Given the description of an element on the screen output the (x, y) to click on. 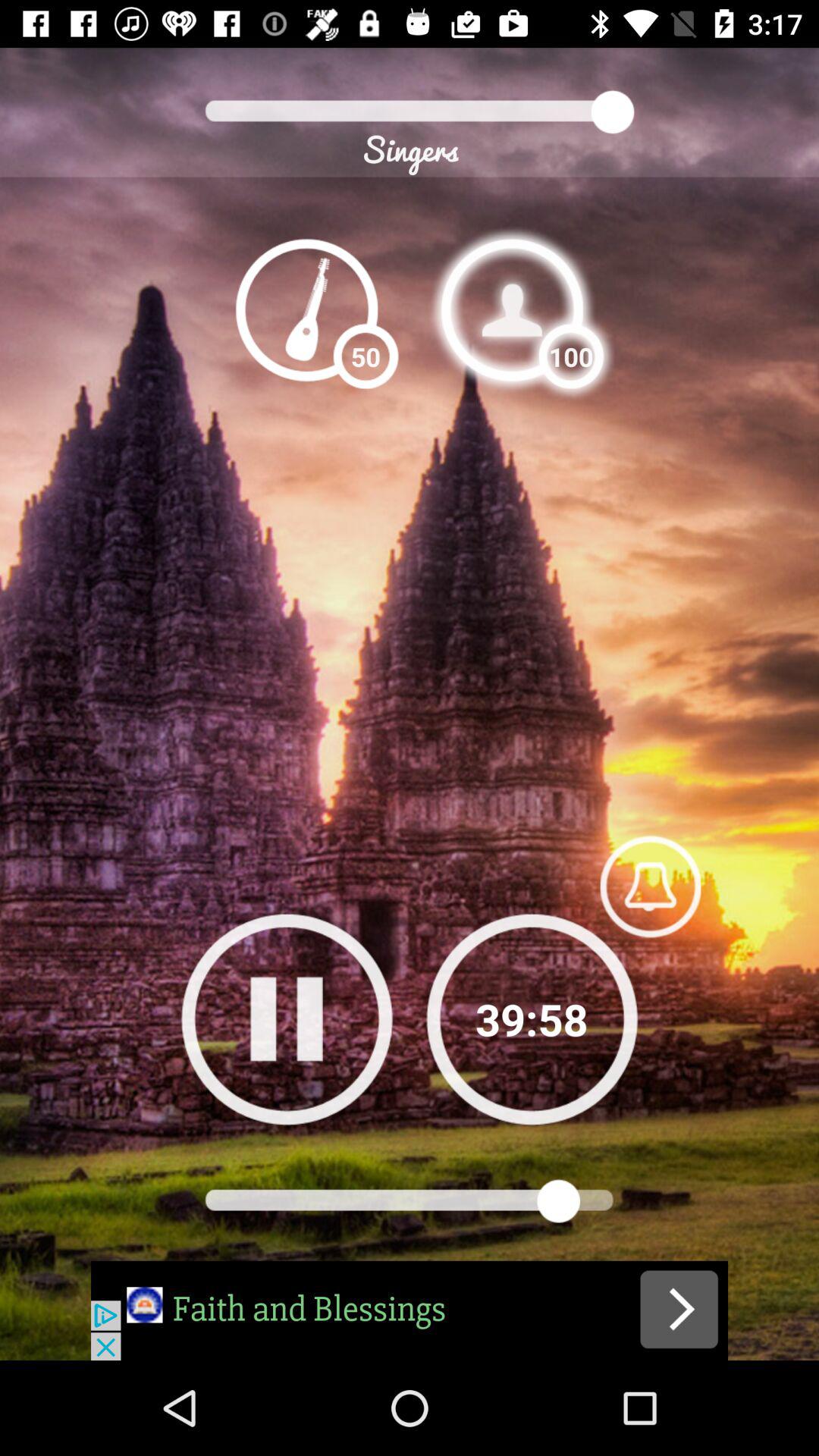
pause button (286, 1018)
